Given the description of an element on the screen output the (x, y) to click on. 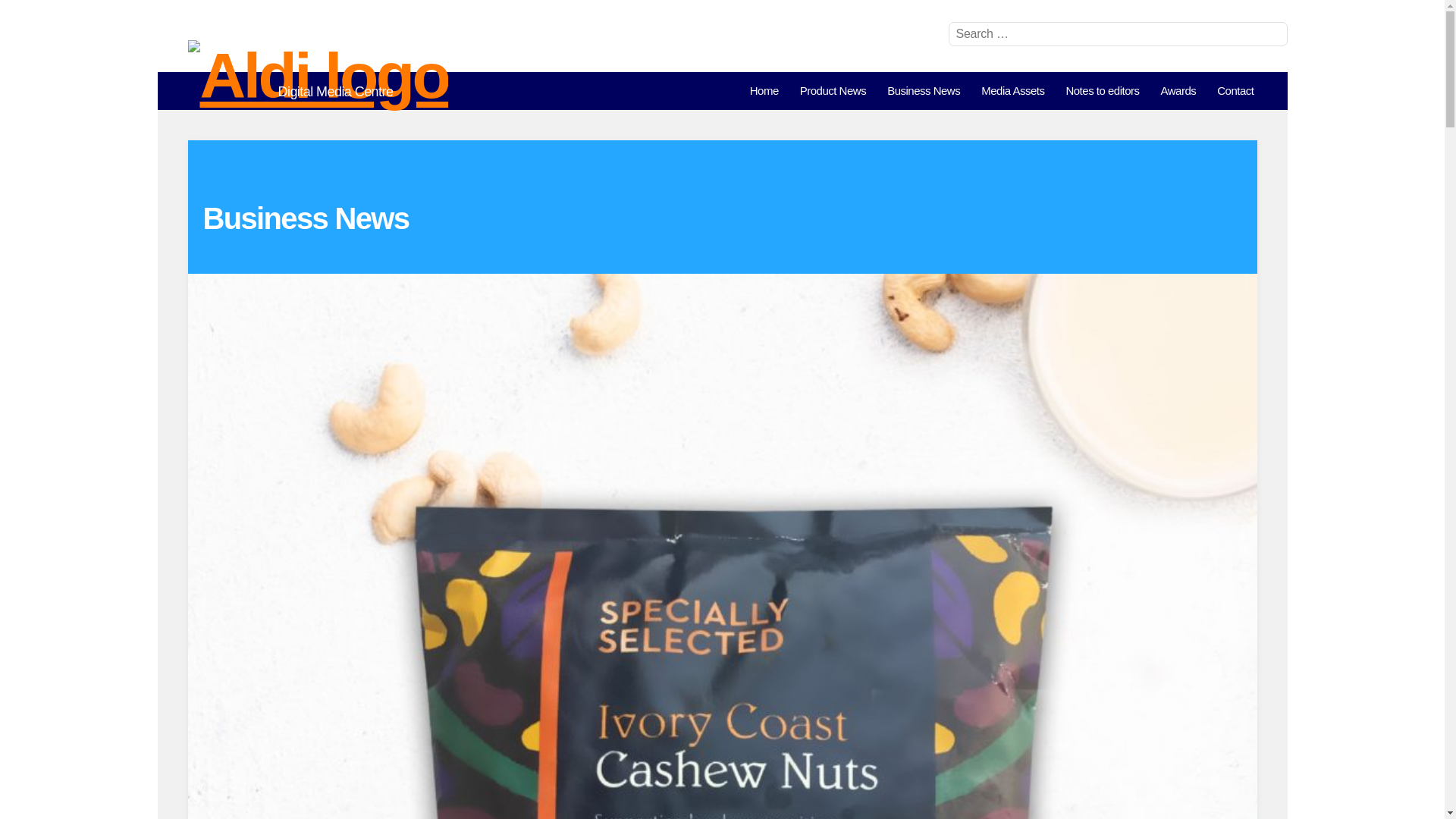
Product News (832, 90)
Home (764, 90)
Media Assets (1012, 90)
Business News (923, 90)
